Given the description of an element on the screen output the (x, y) to click on. 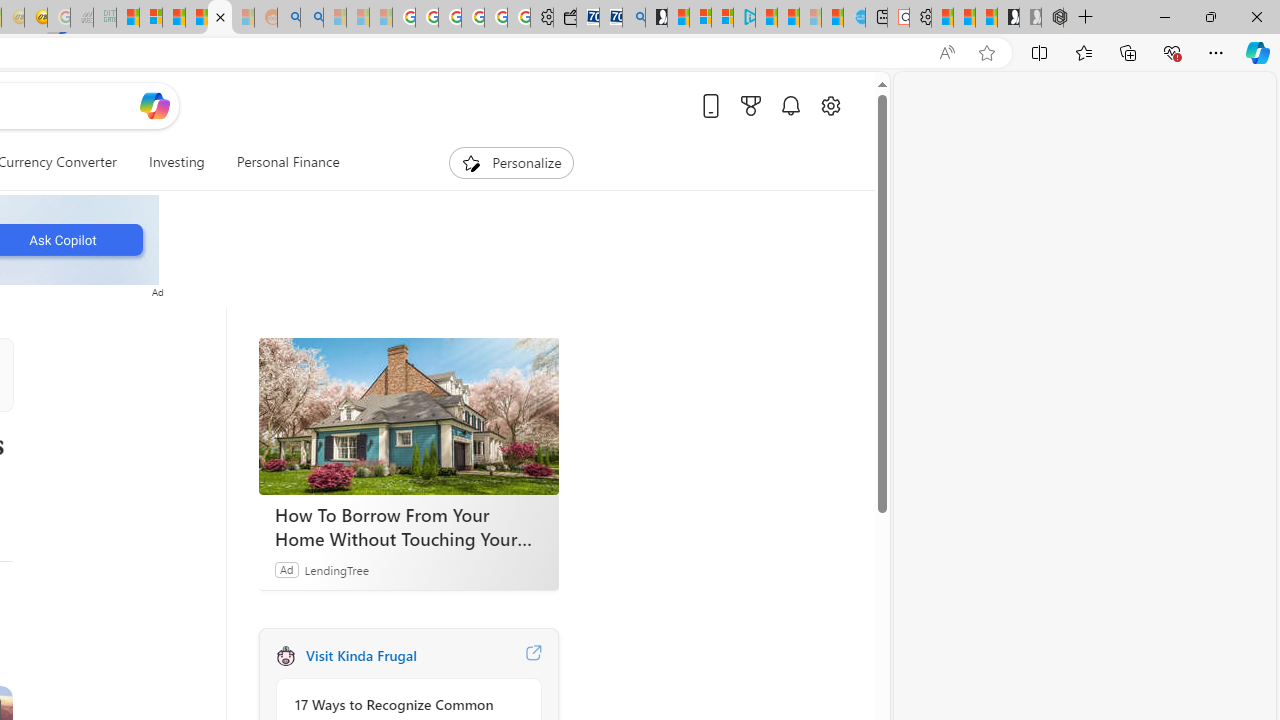
Personal Finance (287, 162)
LendingTree (336, 569)
Microsoft Start Gaming (656, 17)
Bing Real Estate - Home sales and rental listings (634, 17)
Nordace - Nordace Siena Is Not An Ordinary Backpack (1052, 17)
Wallet (564, 17)
